Given the description of an element on the screen output the (x, y) to click on. 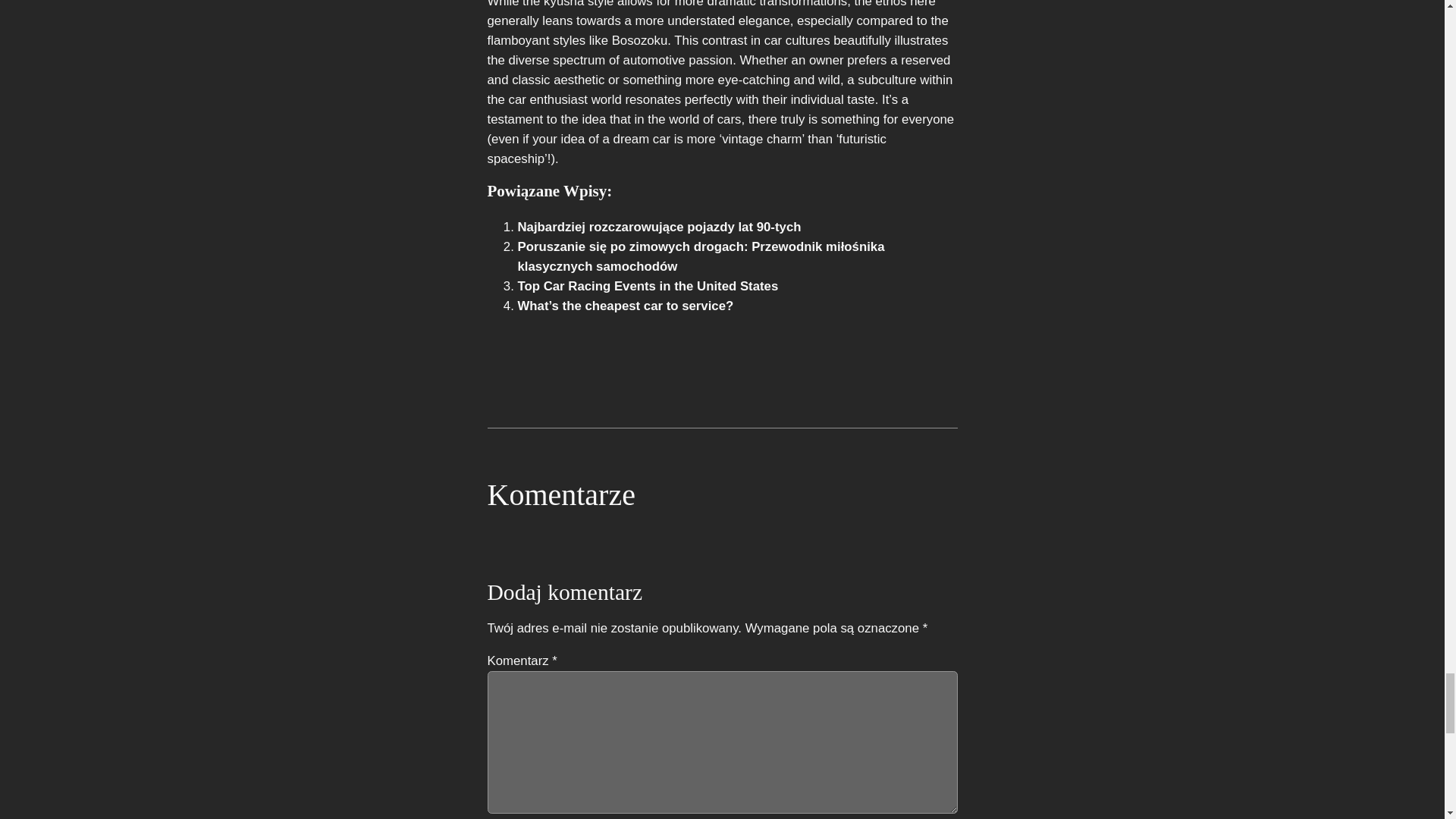
Top Car Racing Events in the United States (646, 286)
Top Car Racing Events in the United States (646, 286)
